Given the description of an element on the screen output the (x, y) to click on. 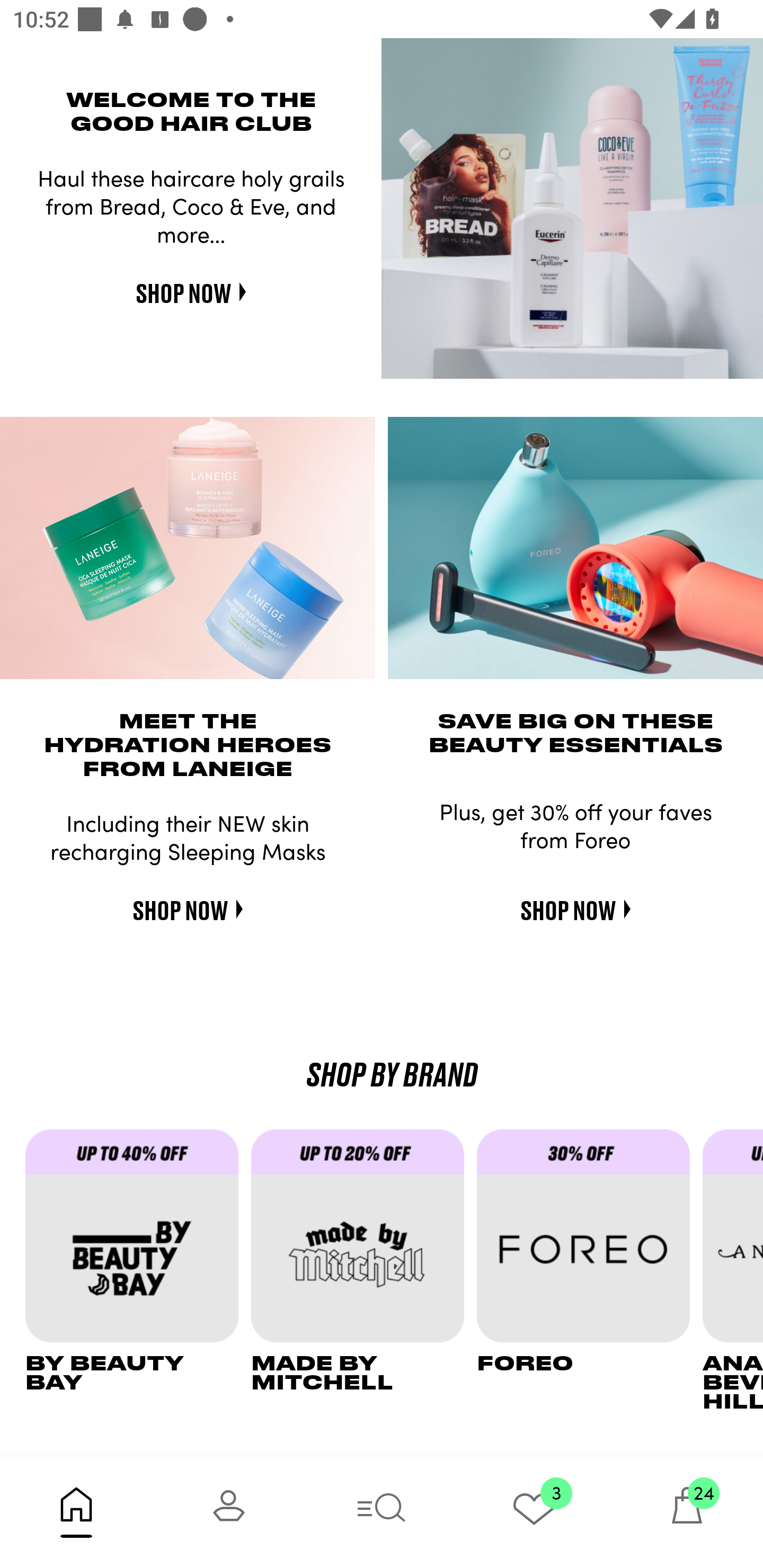
BY BEAUTY BAY (138, 1270)
MADE BY MITCHELL (363, 1270)
FOREO (589, 1270)
3 (533, 1512)
24 (686, 1512)
